Given the description of an element on the screen output the (x, y) to click on. 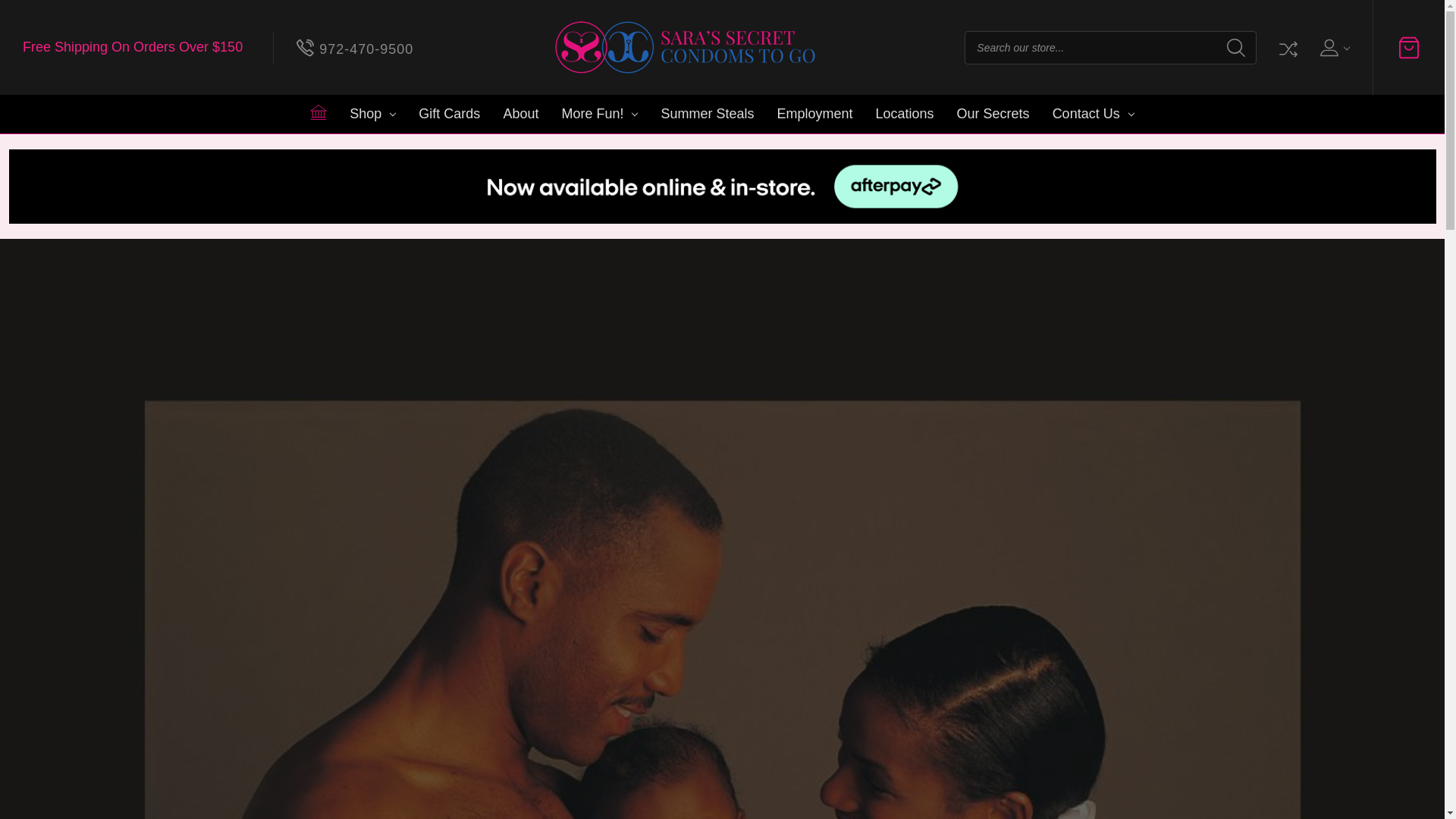
972-470-9500 (355, 46)
Sara's Secret (686, 46)
Compare (1286, 46)
USER (1333, 46)
COMPARE (1286, 46)
SEARCH (1235, 46)
Shop (372, 113)
